Given the description of an element on the screen output the (x, y) to click on. 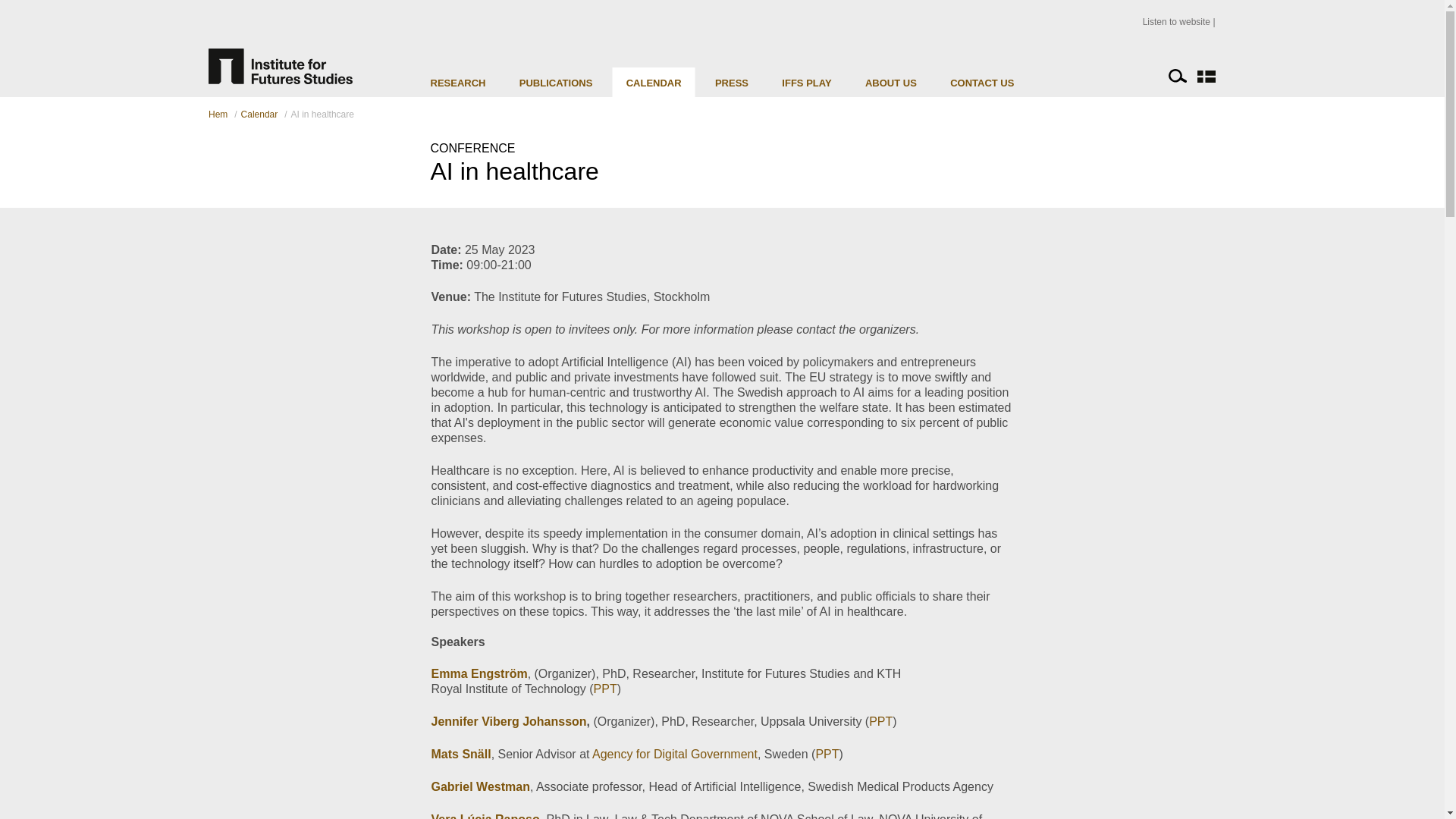
IFFS PLAY (806, 82)
ABOUT US (890, 82)
PRESS (731, 82)
PUBLICATIONS (555, 82)
Listen to website (1178, 21)
RESEARCH (458, 82)
CONTACT US (981, 82)
CALENDAR (653, 82)
